Given the description of an element on the screen output the (x, y) to click on. 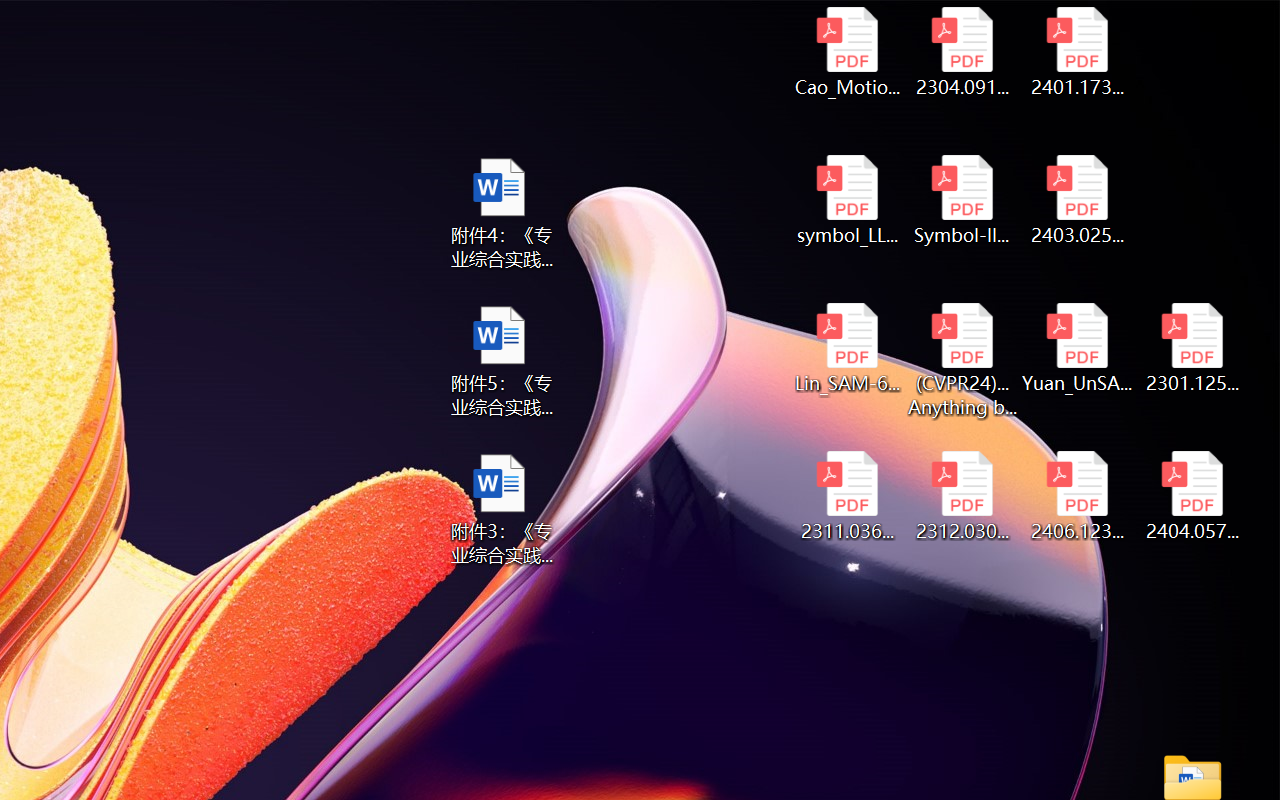
Symbol-llm-v2.pdf (962, 200)
2406.12373v2.pdf (1077, 496)
2312.03032v2.pdf (962, 496)
2404.05719v1.pdf (1192, 496)
2301.12597v3.pdf (1192, 348)
2401.17399v1.pdf (1077, 52)
symbol_LLM.pdf (846, 200)
2304.09121v3.pdf (962, 52)
2403.02502v1.pdf (1077, 200)
